Given the description of an element on the screen output the (x, y) to click on. 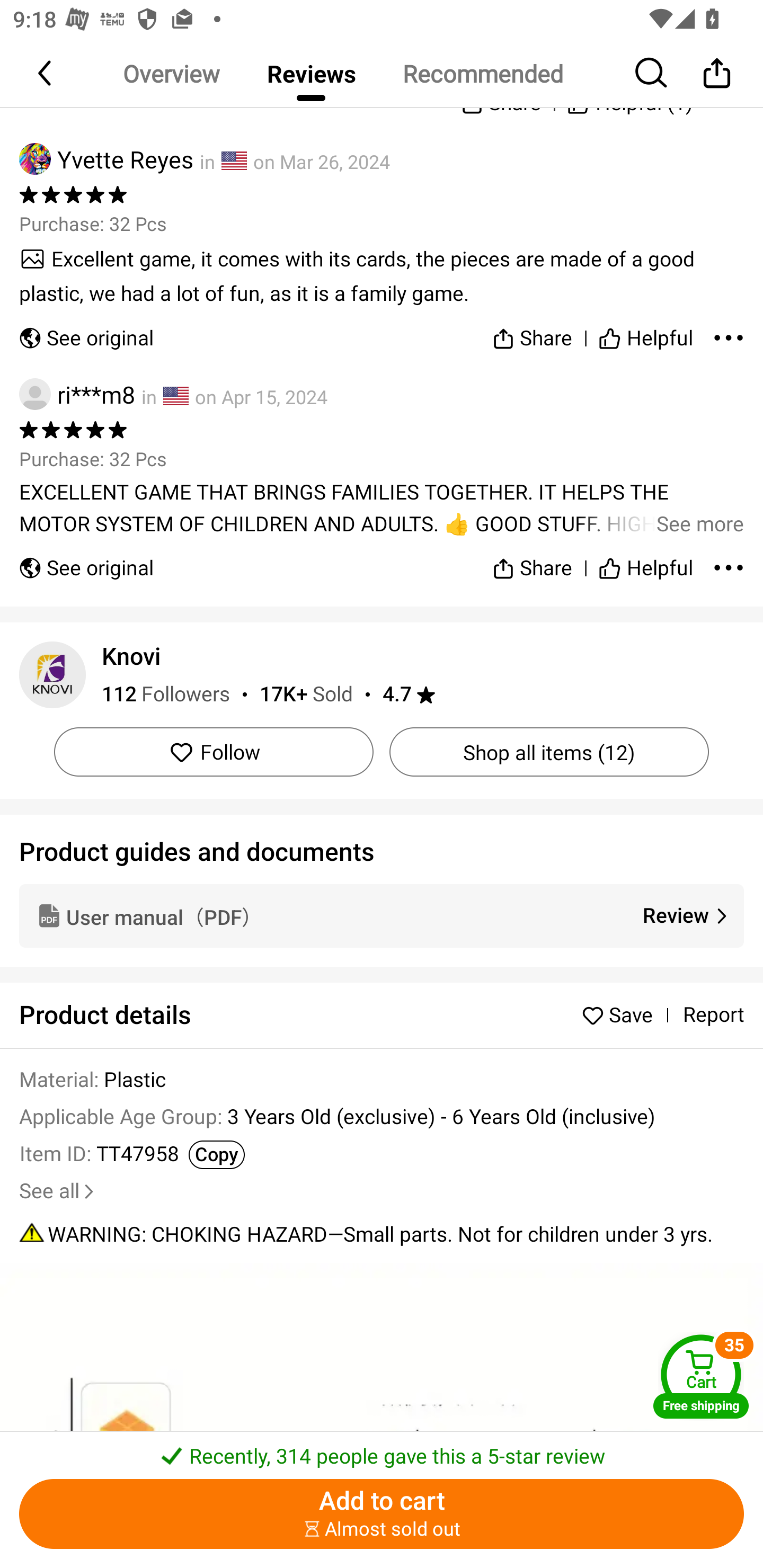
Overview (171, 72)
Reviews (311, 72)
Recommended (482, 72)
Back (46, 72)
Share (716, 72)
Yvette Reyes (106, 158)
  See original (86, 334)
  Share (532, 334)
  Helpful (645, 334)
ri***m8 (77, 393)
See more (381, 507)
  See original (86, 560)
  Share (532, 560)
  Helpful (645, 560)
  Follow (213, 751)
Shop all items (12) (548, 751)
User manual（PDF） Review (381, 915)
Report (712, 1015)
 Save (621, 1014)
Copy (216, 1154)
See all  (58, 1191)
Cart Free shipping Cart (701, 1375)
￼￼Recently, 314 people gave this a 5-star review (381, 1450)
Add to cart ￼￼Almost sold out (381, 1513)
